Given the description of an element on the screen output the (x, y) to click on. 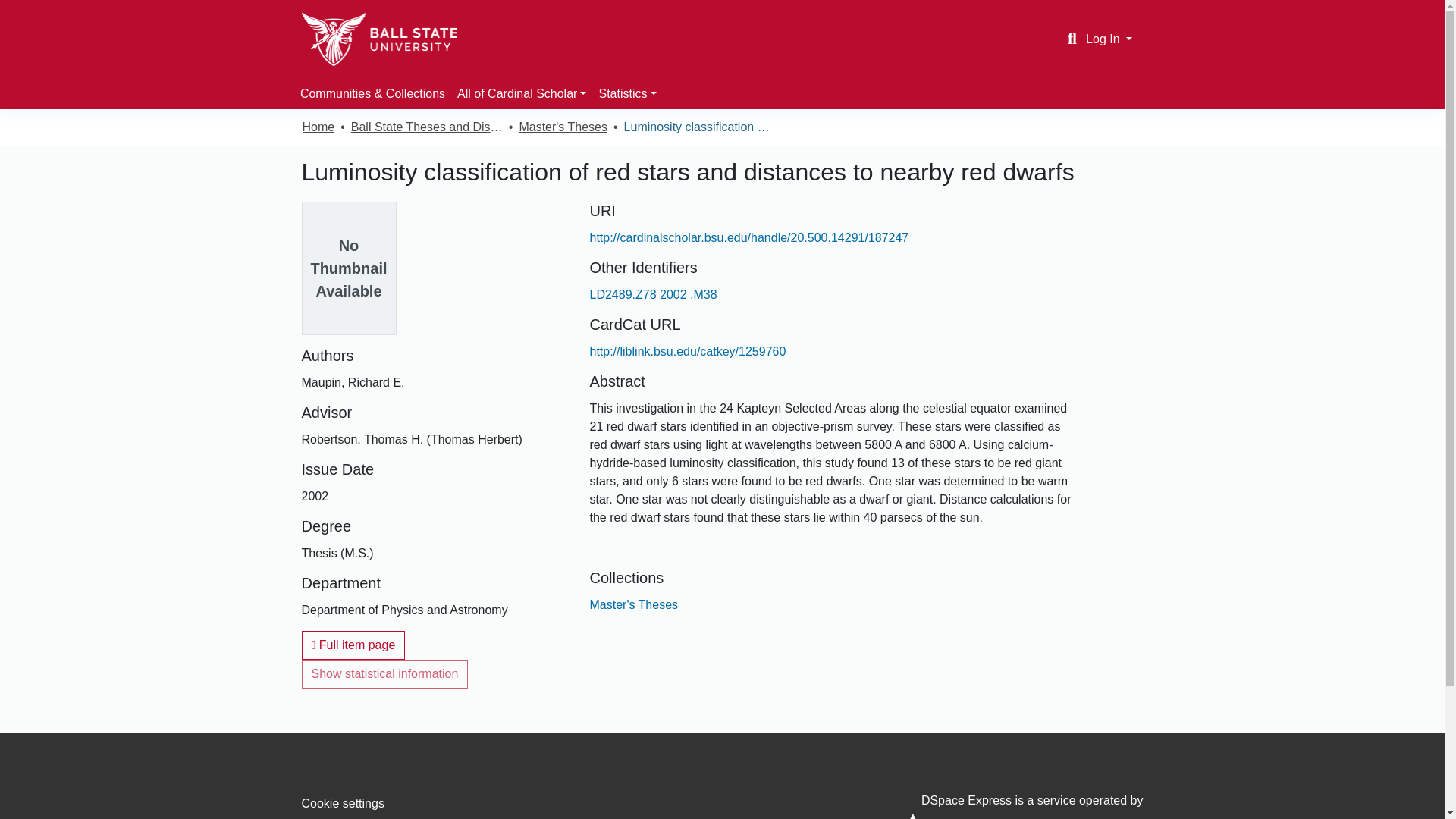
Master's Theses (633, 604)
LD2489.Z78 2002 .M38 (652, 294)
Cookie settings (342, 802)
Full item page (353, 645)
Log In (1108, 38)
Show statistical information (384, 674)
Master's Theses (562, 126)
Search (1072, 39)
DSpace Express is a service operated by (1009, 806)
Statistics (627, 93)
Home (317, 126)
Ball State Theses and Dissertations (426, 126)
All of Cardinal Scholar (521, 93)
